Given the description of an element on the screen output the (x, y) to click on. 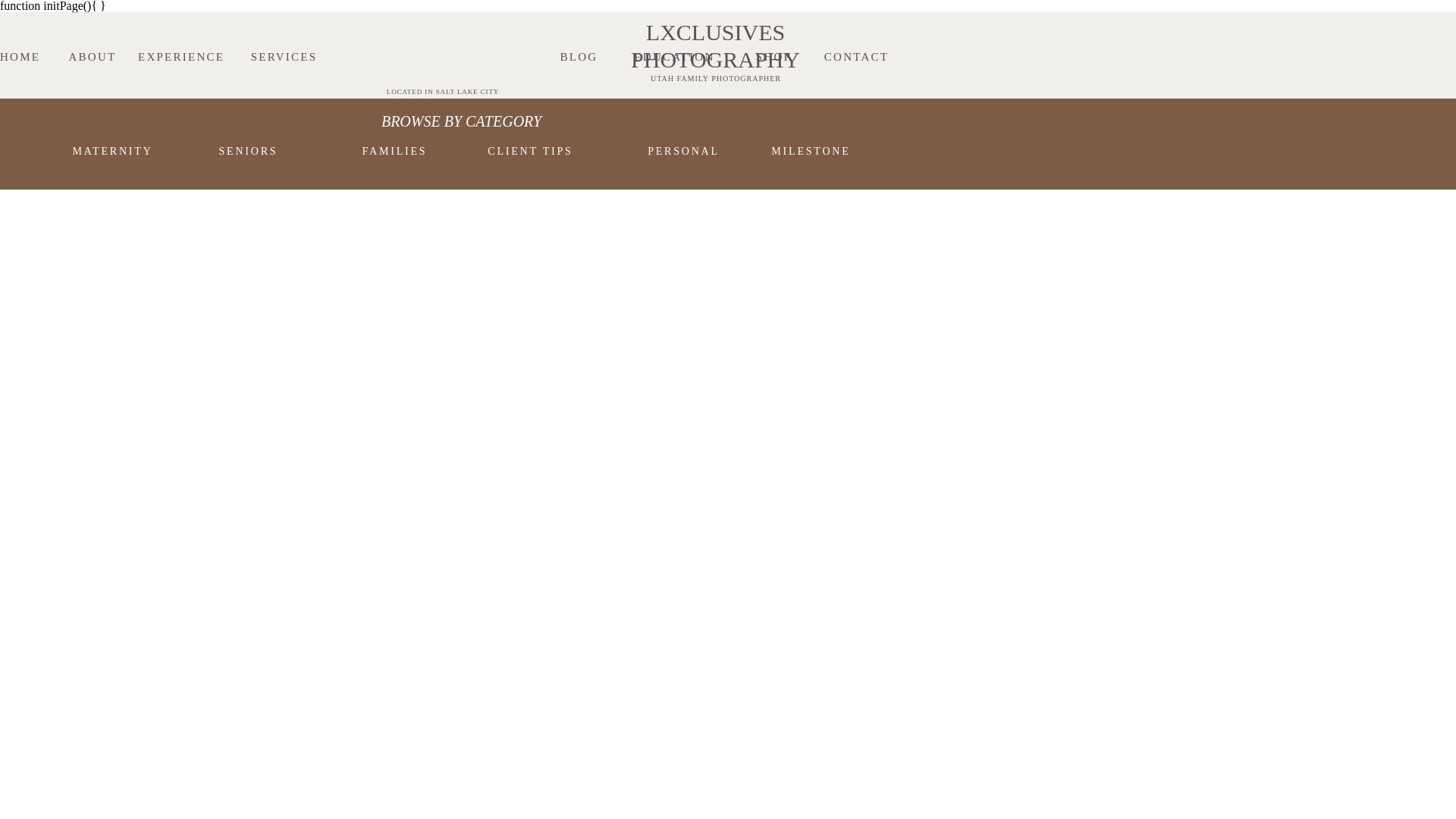
LXCLUSIVES PHOTOGRAPHY (714, 47)
EDUCATION (673, 75)
BLOG (579, 75)
ABOUT (92, 75)
SHOP (773, 75)
SERVICES (283, 52)
UTAH FAMILY PHOTOGRAPHER (715, 77)
LOCATED IN SALT LAKE CITY (442, 92)
CONTACT (855, 75)
EXPERIENCE (181, 75)
